Given the description of an element on the screen output the (x, y) to click on. 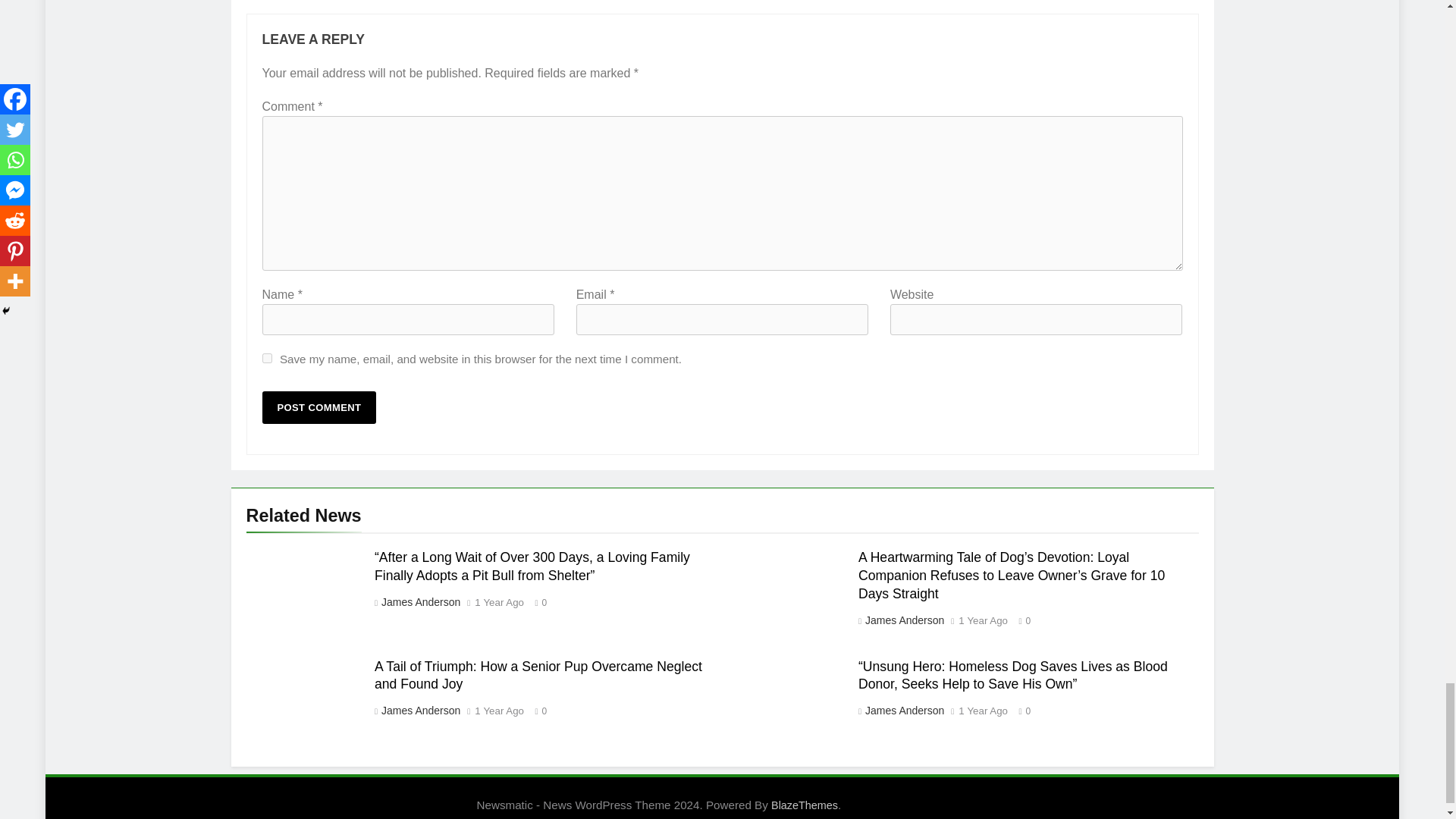
Post Comment (319, 407)
yes (267, 357)
1 Year Ago (499, 602)
0 (537, 601)
Post Comment (319, 407)
James Anderson (419, 602)
